Given the description of an element on the screen output the (x, y) to click on. 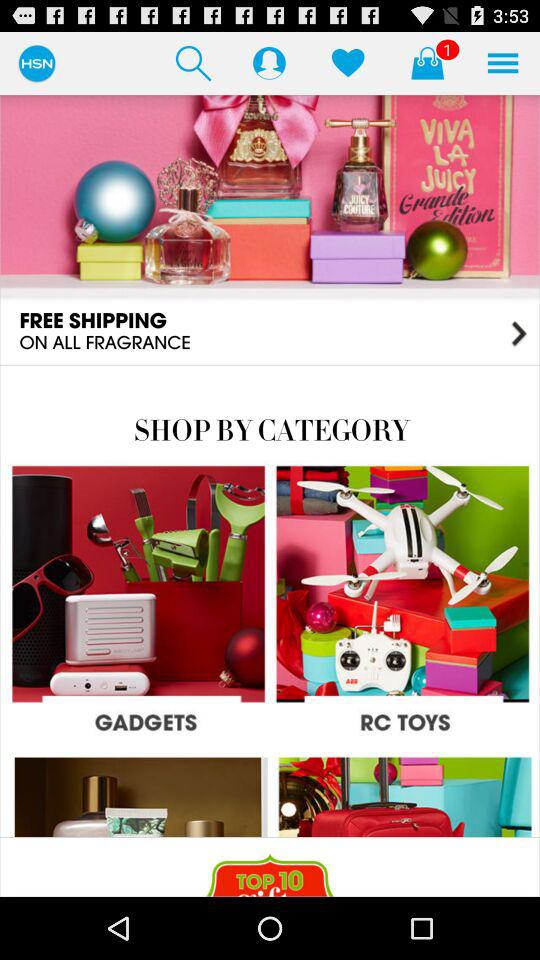
user profile (269, 62)
